Given the description of an element on the screen output the (x, y) to click on. 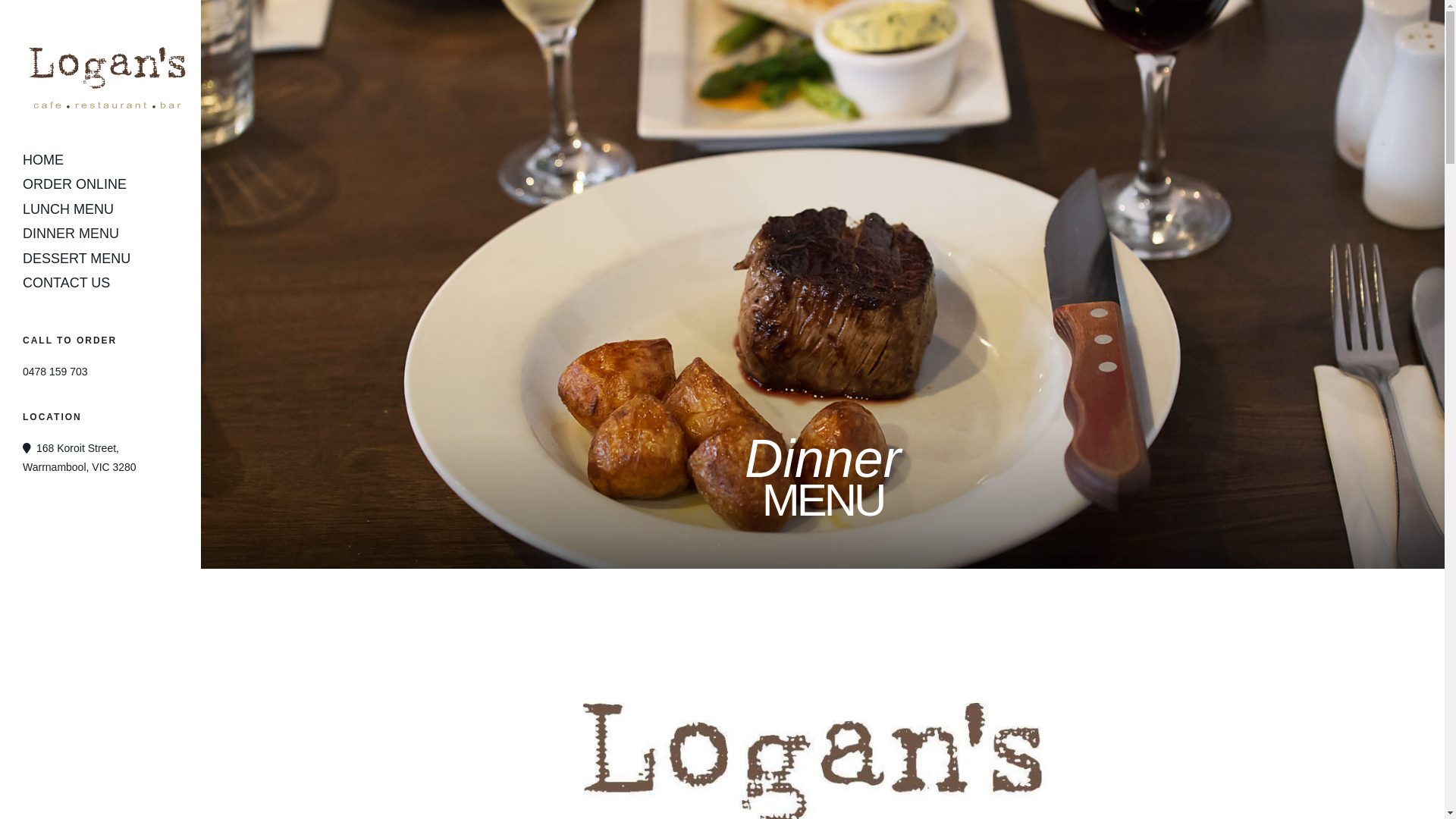
0478 159 703 Element type: text (54, 371)
CONTACT US Element type: text (100, 282)
DINNER MENU Element type: text (100, 233)
DESSERT MENU Element type: text (100, 258)
HOME Element type: text (100, 159)
LUNCH MENU Element type: text (100, 209)
ORDER ONLINE Element type: text (100, 184)
